Given the description of an element on the screen output the (x, y) to click on. 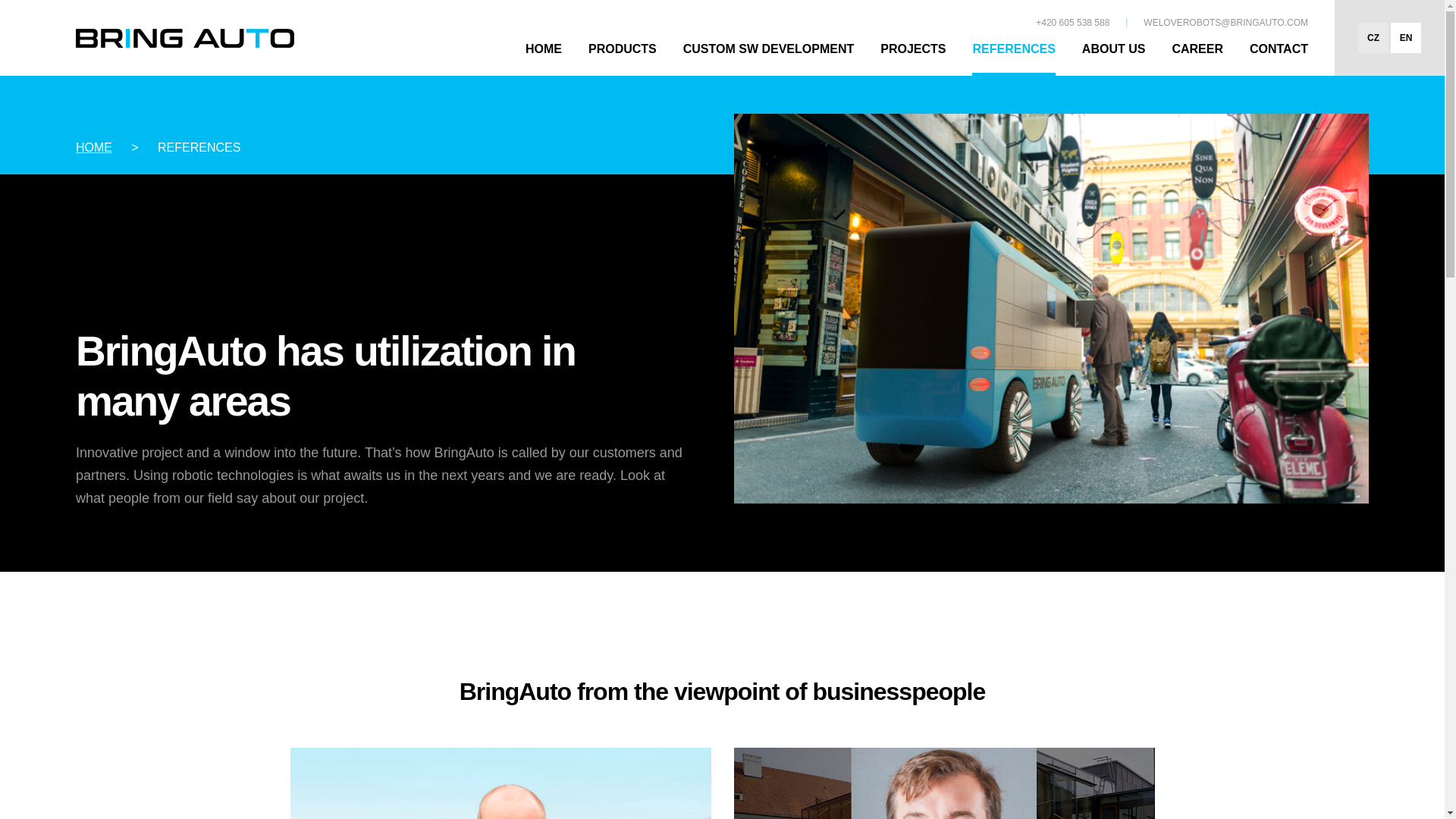
EN (1405, 37)
HOME (93, 147)
CZ (1373, 37)
REFERENCES (1013, 56)
CONTACT (1278, 56)
PRODUCTS (622, 56)
PROJECTS (912, 56)
CAREER (1197, 56)
CUSTOM SW DEVELOPMENT (768, 56)
HOME (543, 56)
